Given the description of an element on the screen output the (x, y) to click on. 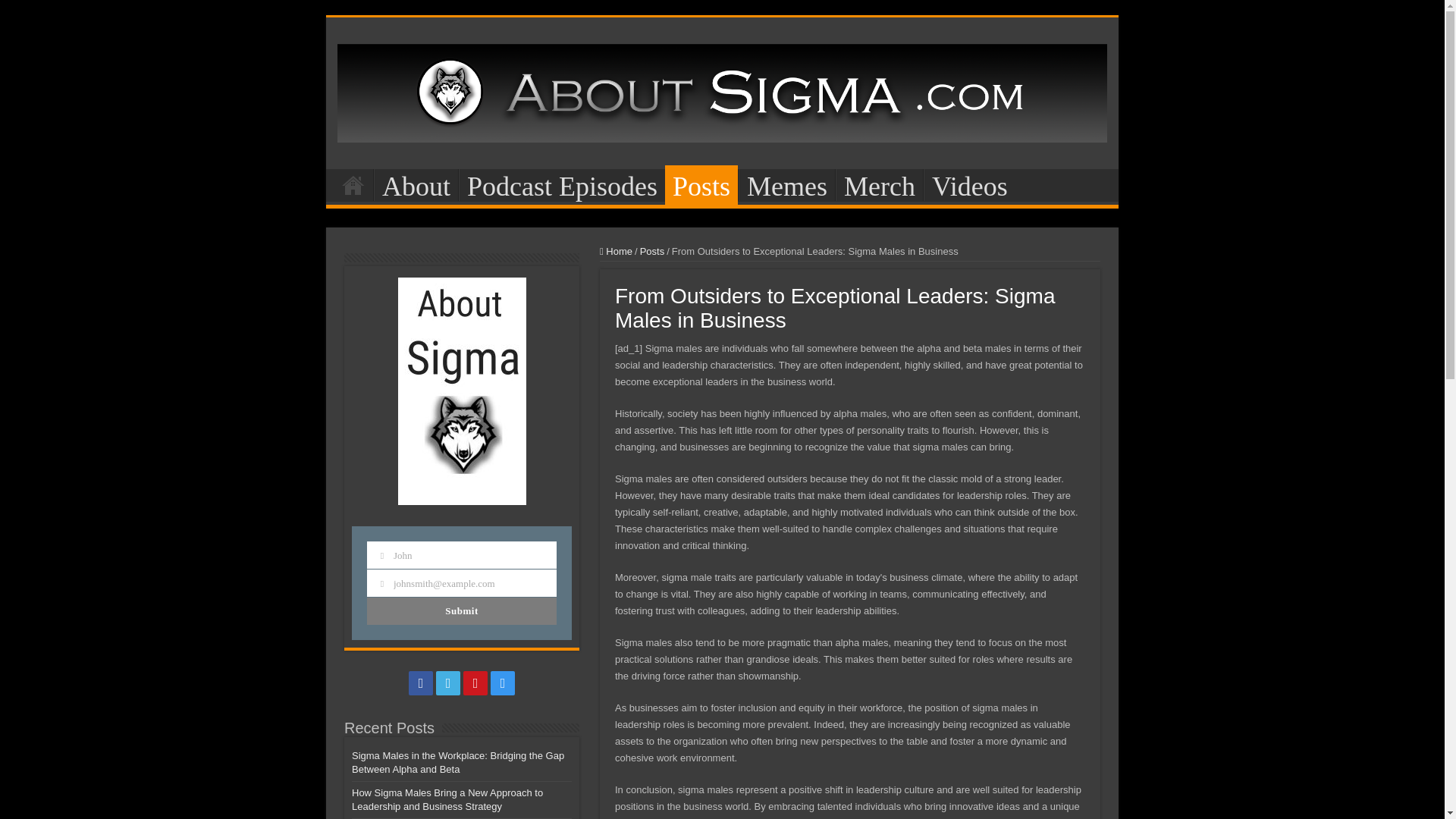
Videos (968, 184)
AboutSigma.com (721, 90)
Facebook (420, 682)
Submit (461, 610)
About (416, 184)
Posts (701, 184)
instagram (502, 682)
Youtube (475, 682)
Merch (879, 184)
Home (615, 251)
Twitter (447, 682)
Posts (652, 251)
Memes (786, 184)
Home (352, 184)
Podcast Episodes (561, 184)
